Given the description of an element on the screen output the (x, y) to click on. 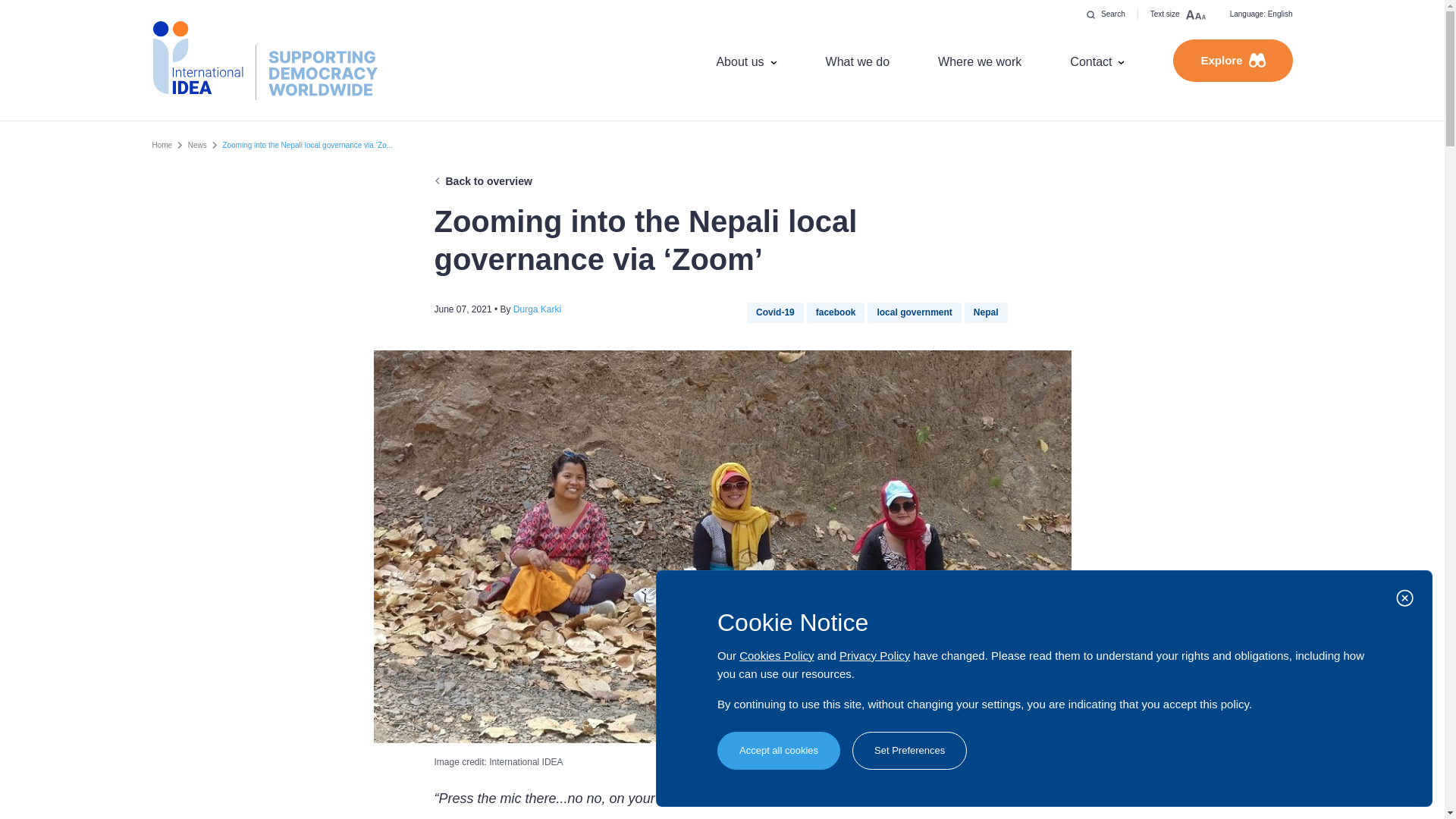
Text size (1177, 14)
Where we work (979, 61)
Contact (1097, 60)
Language: English (1260, 14)
Search (1106, 14)
About us (746, 60)
What we do (857, 61)
